Given the description of an element on the screen output the (x, y) to click on. 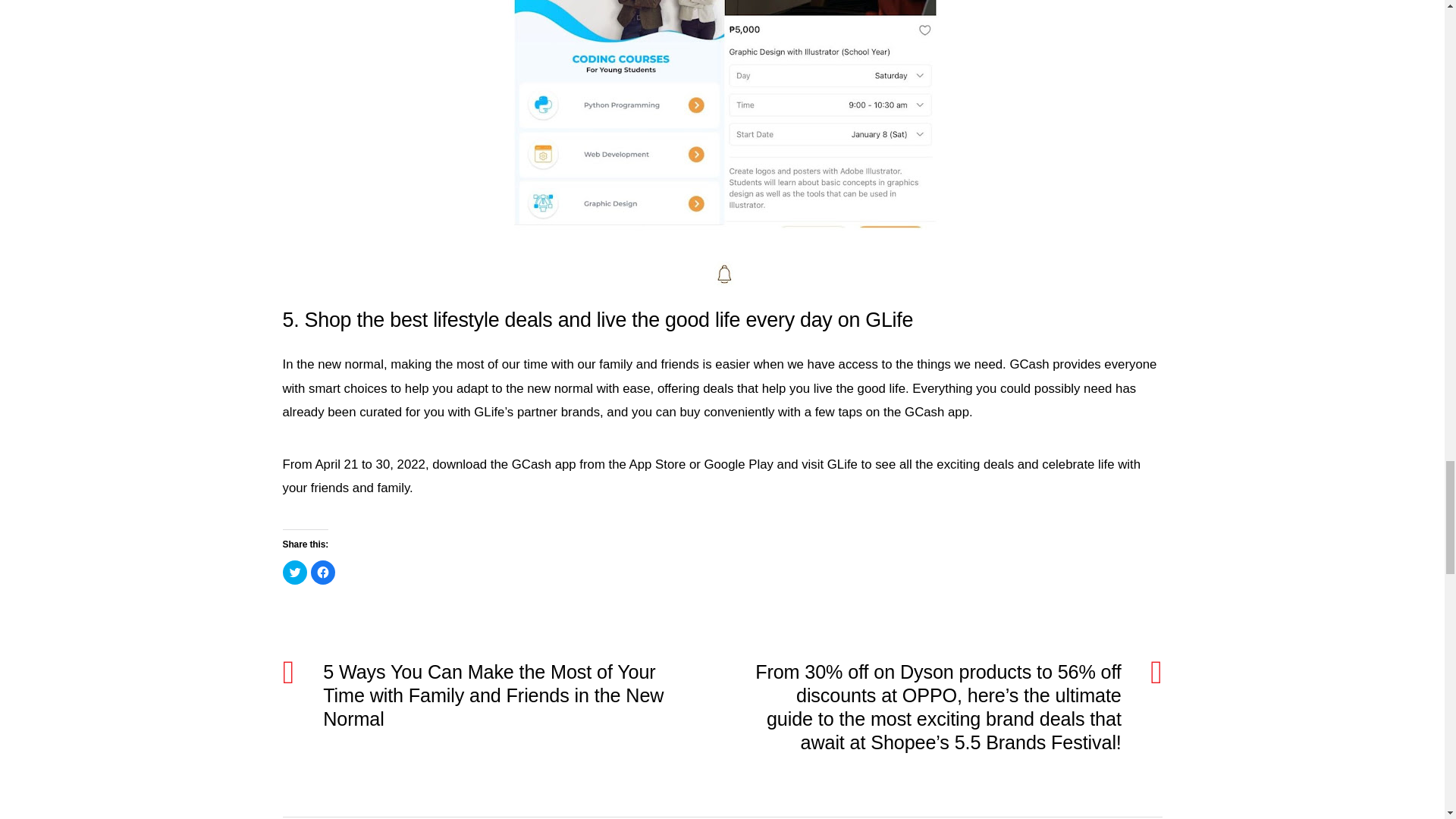
Click to share on Facebook (322, 572)
Click to share on Twitter (293, 572)
